Given the description of an element on the screen output the (x, y) to click on. 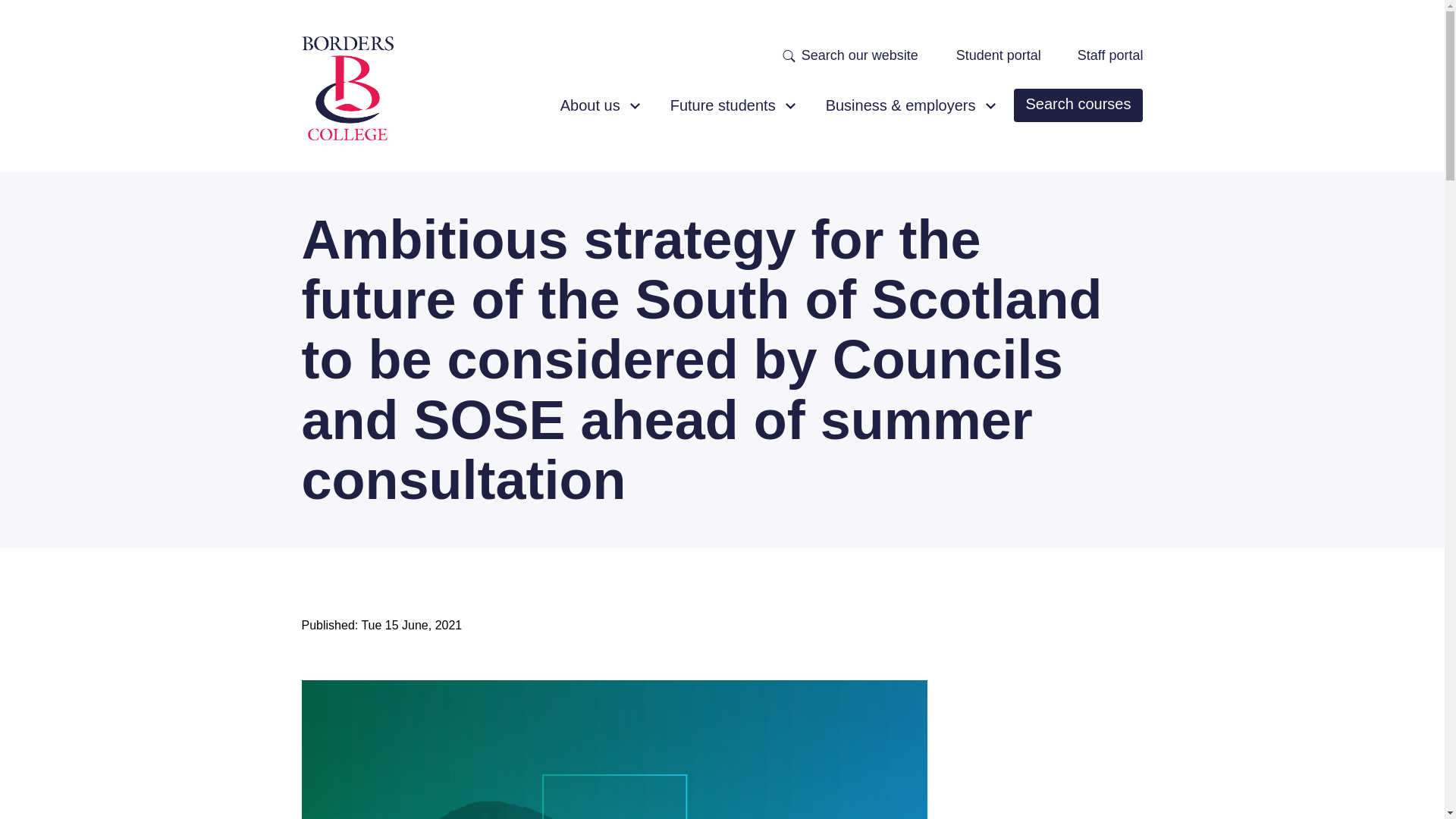
Search courses (1077, 105)
Enter the terms you wish to search for. (865, 55)
Staff portal (1109, 56)
Student portal (998, 56)
